Given the description of an element on the screen output the (x, y) to click on. 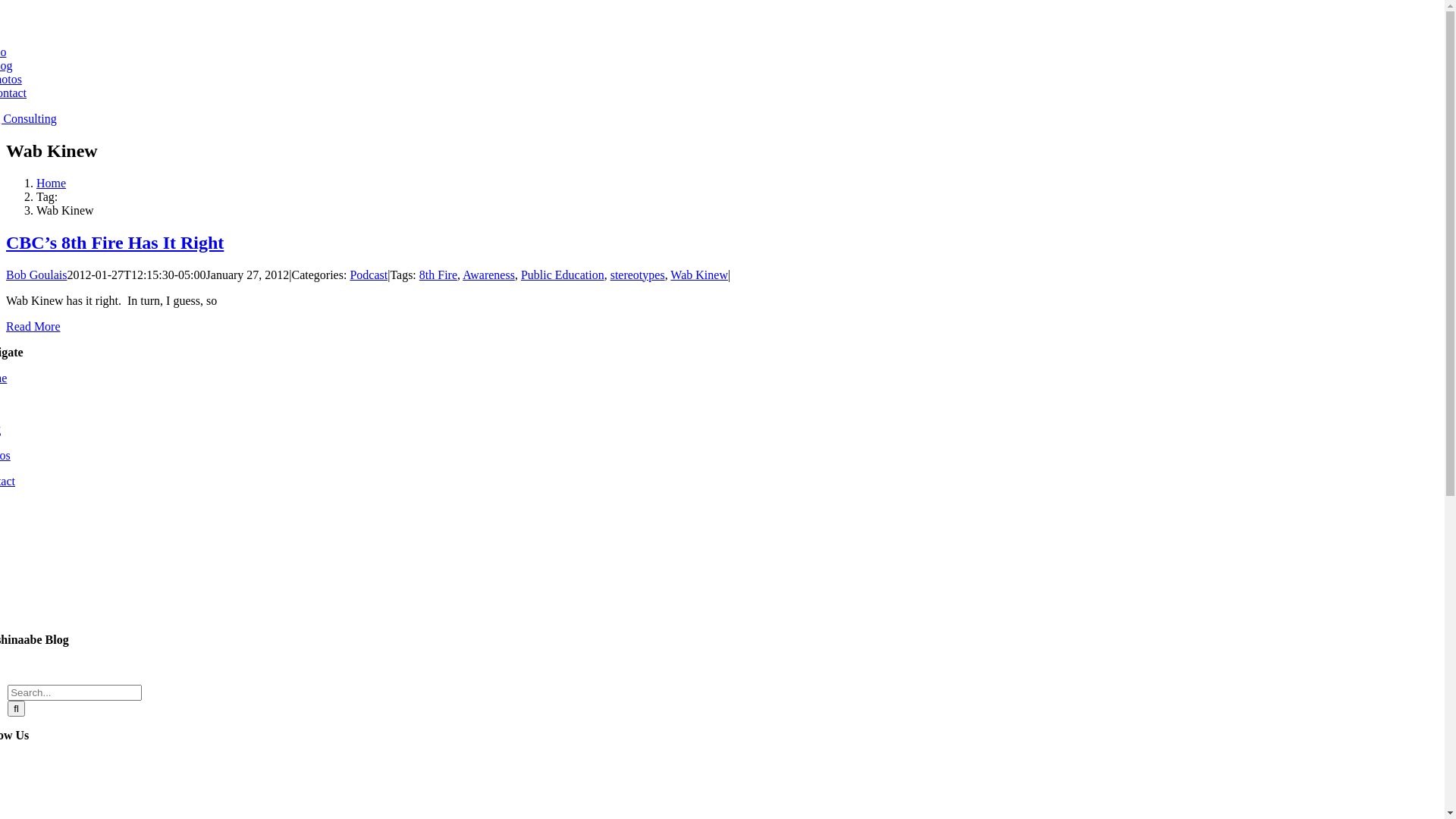
stereotypes Element type: text (637, 274)
Home Element type: text (50, 182)
Awareness Element type: text (488, 274)
Bob Goulais Element type: text (36, 274)
8th Fire Element type: text (438, 274)
Wab Kinew Element type: text (699, 274)
Skip to content Element type: text (5, 5)
Podcast Element type: text (368, 274)
Read More Element type: text (33, 326)
Public Education Element type: text (562, 274)
